Given the description of an element on the screen output the (x, y) to click on. 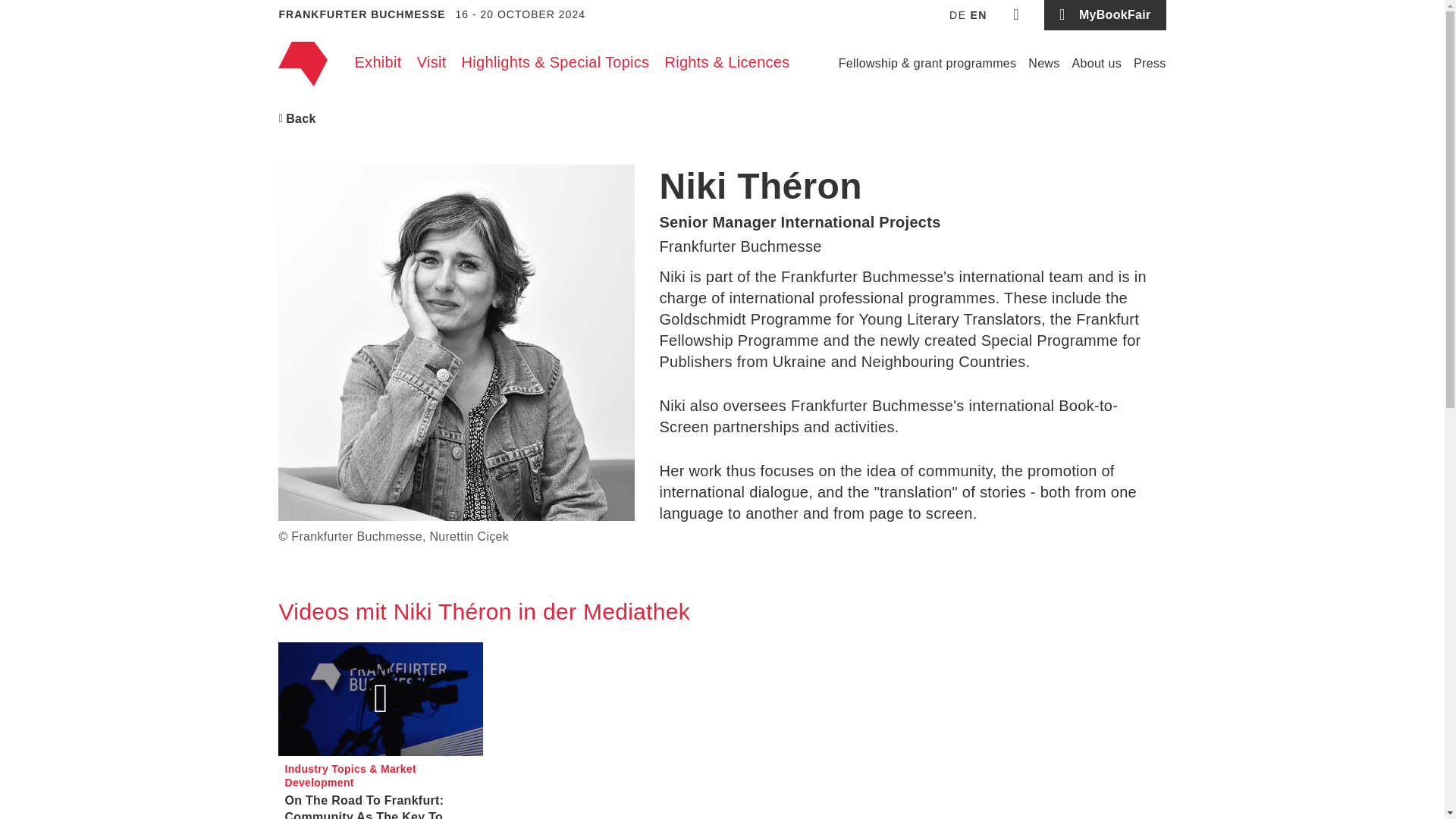
MyBookFair (1104, 15)
About us (1096, 63)
News (1043, 63)
Back (296, 118)
Search (1015, 15)
Visit (431, 62)
Press (1150, 63)
Exhibit (377, 62)
Buchmesse (302, 63)
Skip to main content (721, 5)
DE (957, 14)
EN (978, 14)
